Given the description of an element on the screen output the (x, y) to click on. 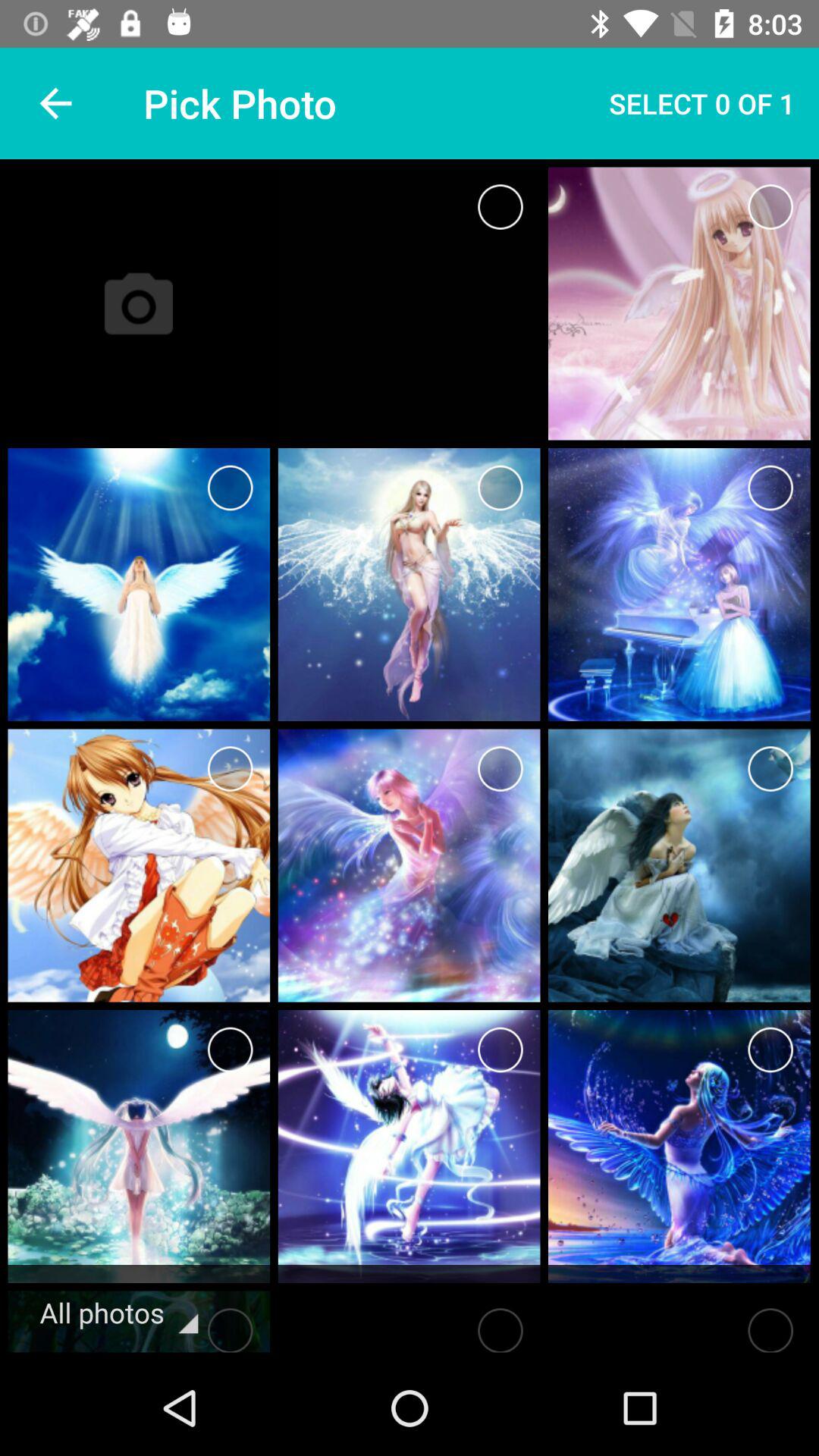
select photo (770, 768)
